Given the description of an element on the screen output the (x, y) to click on. 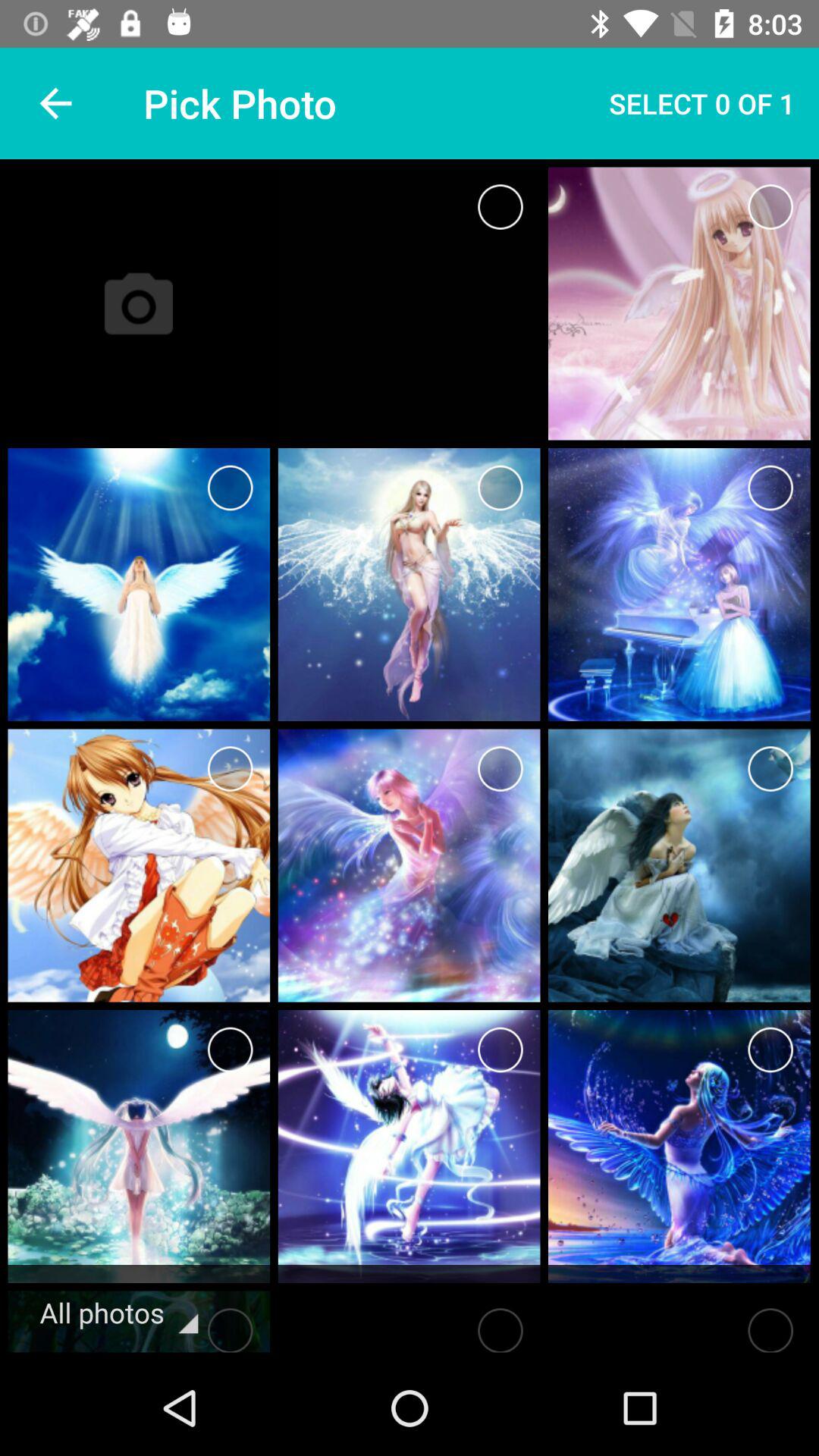
select photo (770, 768)
